Given the description of an element on the screen output the (x, y) to click on. 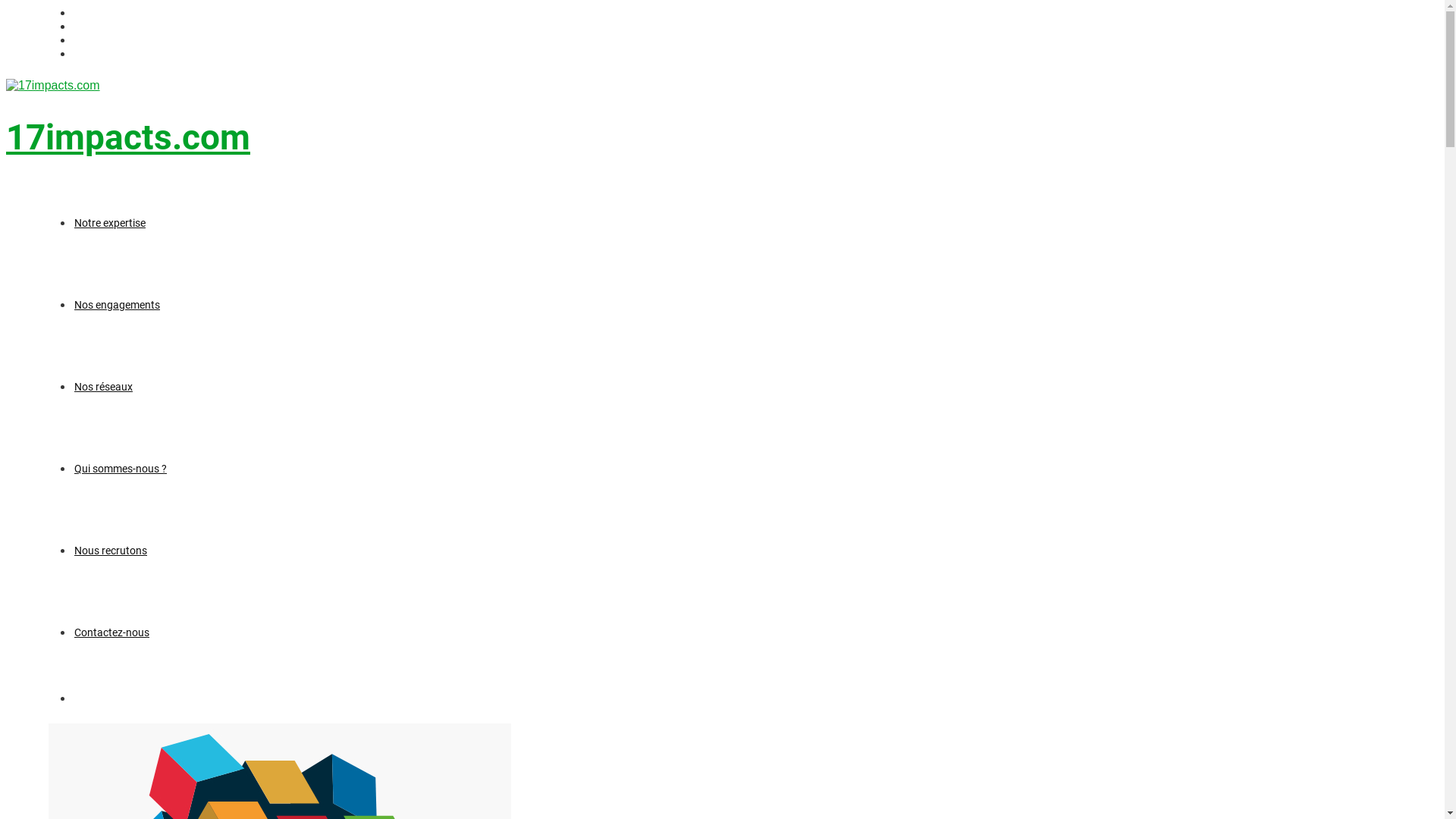
17impacts.com Element type: text (128, 136)
Nos engagements Element type: text (117, 304)
Notre expertise Element type: text (109, 222)
Contactez-nous Element type: text (111, 632)
Nous recrutons Element type: text (110, 550)
Qui sommes-nous ? Element type: text (120, 468)
